Given the description of an element on the screen output the (x, y) to click on. 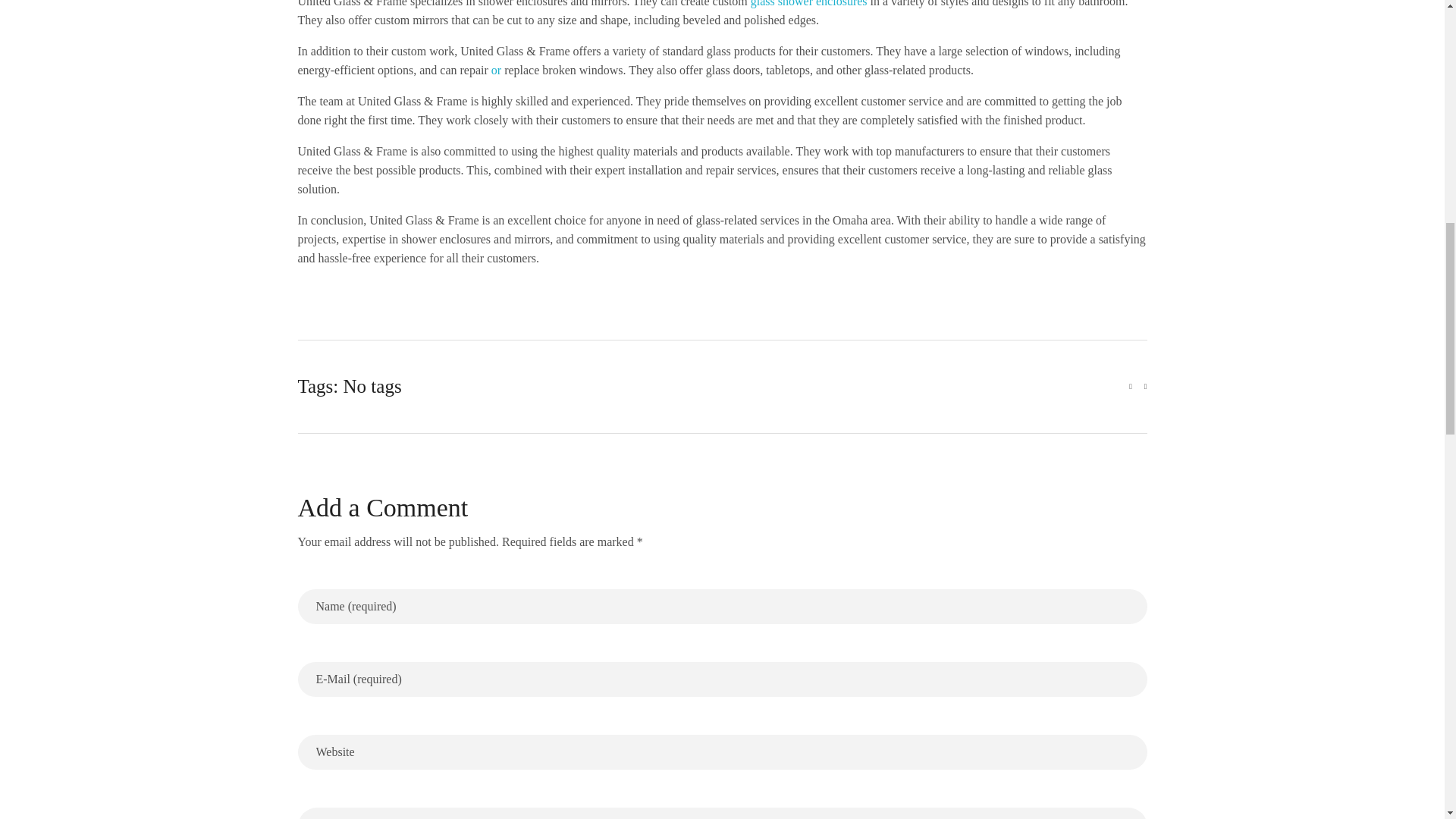
glass shower enclosures (809, 3)
